Given the description of an element on the screen output the (x, y) to click on. 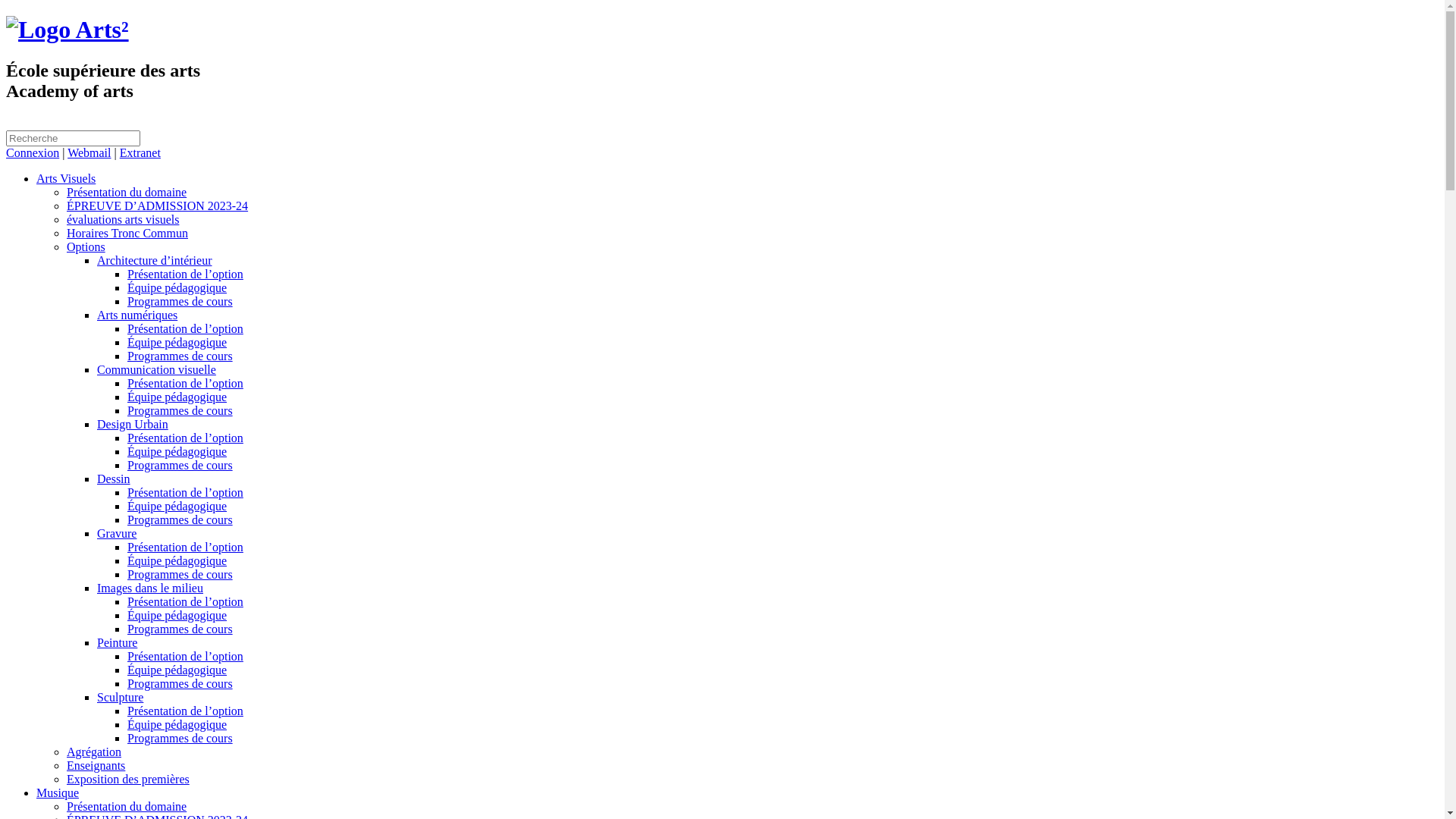
Programmes de cours Element type: text (179, 355)
Programmes de cours Element type: text (179, 683)
Programmes de cours Element type: text (179, 573)
Options Element type: text (85, 246)
Programmes de cours Element type: text (179, 464)
Extranet Element type: text (139, 152)
Connexion Element type: text (32, 152)
Sculpture Element type: text (120, 696)
Dessin Element type: text (113, 478)
Arts Visuels Element type: text (65, 178)
Peinture Element type: text (117, 642)
Design Urbain Element type: text (132, 423)
Enseignants Element type: text (95, 765)
Images dans le milieu Element type: text (150, 587)
Programmes de cours Element type: text (179, 628)
Programmes de cours Element type: text (179, 300)
Horaires Tronc Commun Element type: text (127, 232)
Programmes de cours Element type: text (179, 737)
Communication visuelle Element type: text (156, 369)
Gravure Element type: text (116, 533)
Programmes de cours Element type: text (179, 519)
Webmail Element type: text (88, 152)
Programmes de cours Element type: text (179, 410)
Musique Element type: text (57, 792)
